Given the description of an element on the screen output the (x, y) to click on. 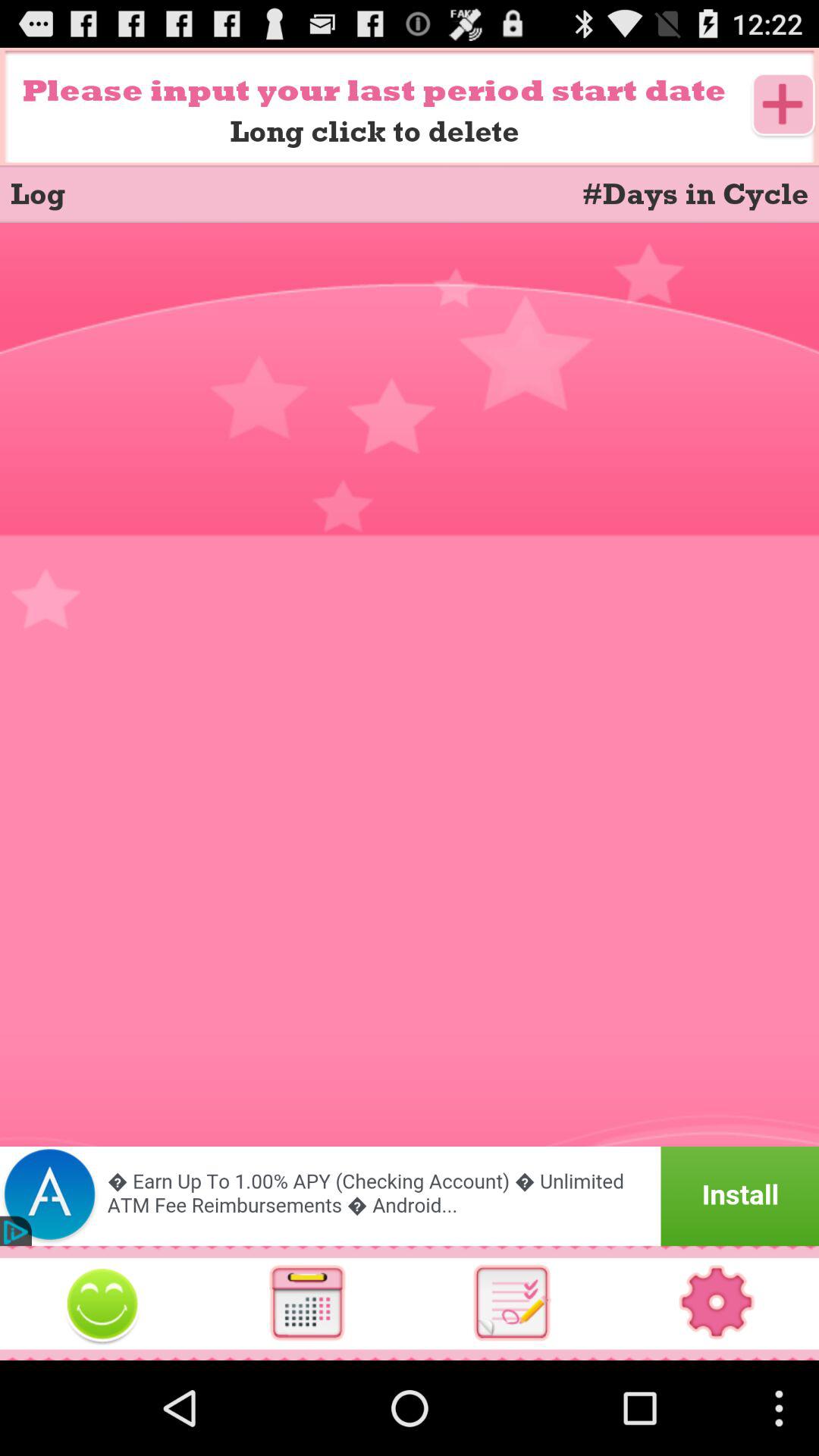
open settings (716, 1302)
